Given the description of an element on the screen output the (x, y) to click on. 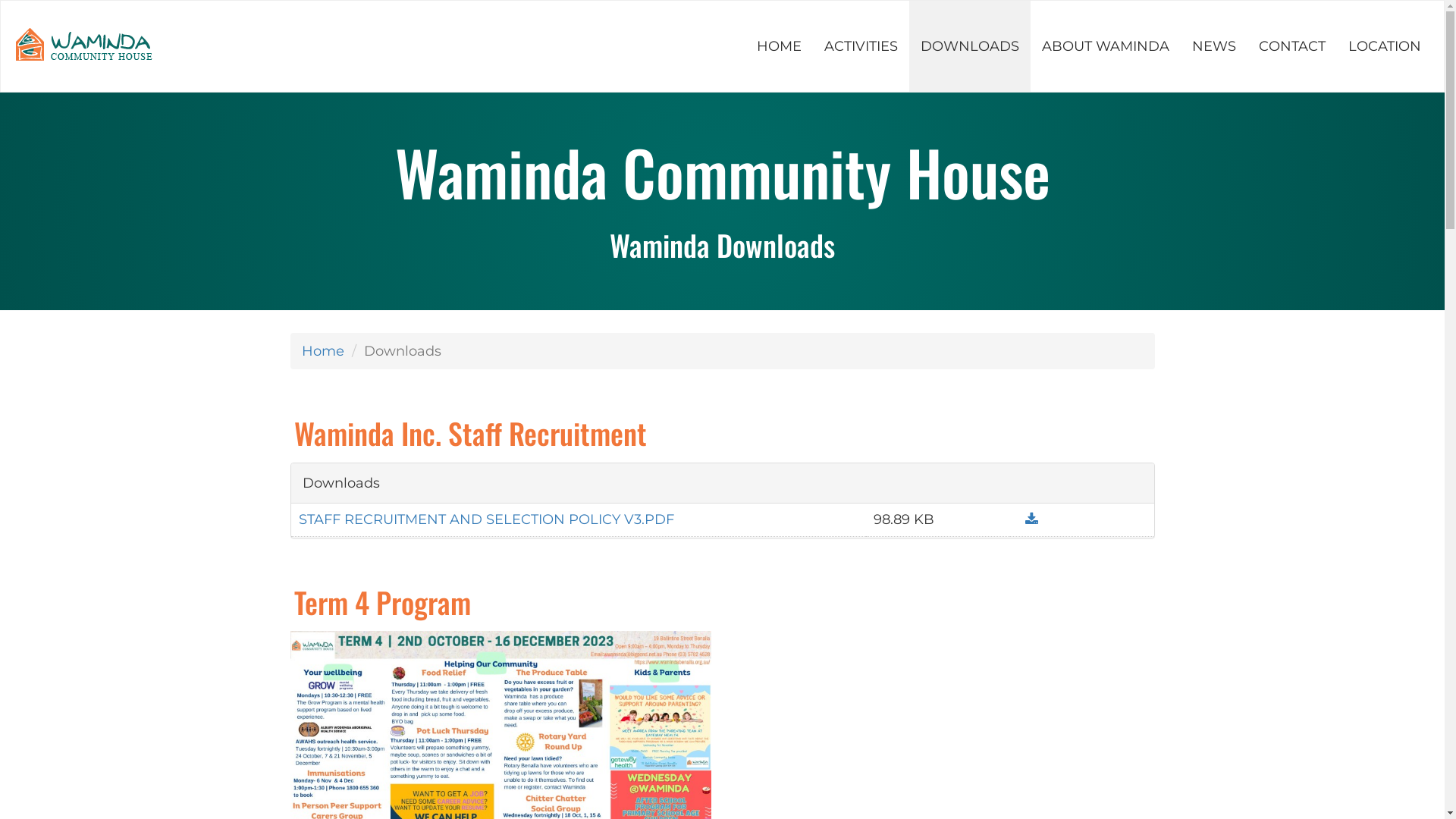
Home Element type: text (322, 350)
ACTIVITIES Element type: text (860, 45)
STAFF RECRUITMENT AND SELECTION POLICY V3.PDF Element type: text (486, 519)
ABOUT WAMINDA Element type: text (1105, 45)
DOWNLOADS Element type: text (969, 45)
NEWS Element type: text (1213, 45)
Download File Element type: hover (1027, 519)
Waminda Community House Element type: hover (84, 45)
HOME Element type: text (778, 45)
CONTACT Element type: text (1291, 45)
LOCATION Element type: text (1384, 45)
